Given the description of an element on the screen output the (x, y) to click on. 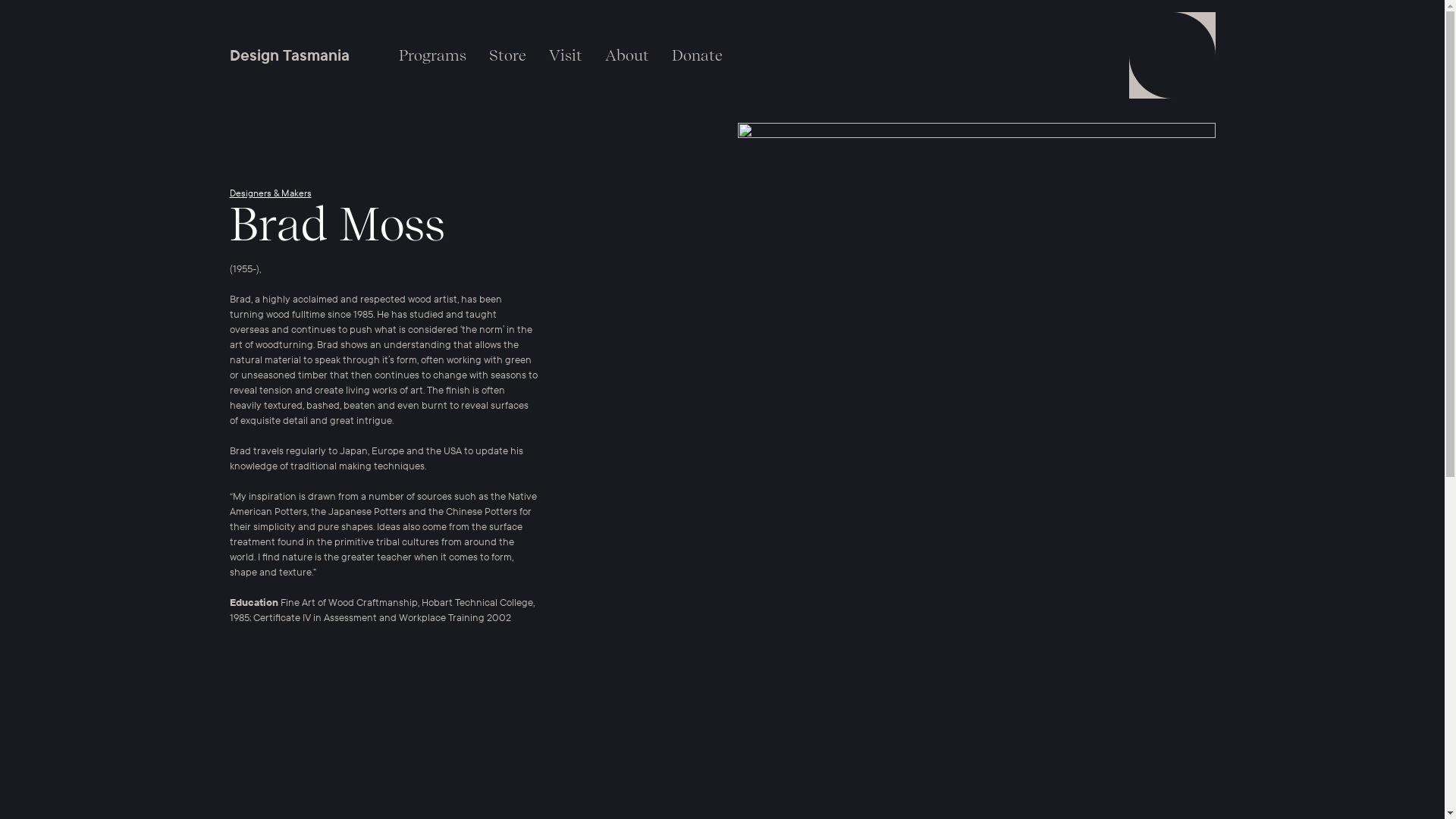
Menu Element type: text (1171, 55)
About Element type: text (626, 54)
Visit Element type: text (564, 54)
Designers & Makers Element type: text (269, 193)
Design Tasmania Element type: text (289, 54)
Store Element type: text (507, 54)
Donate Element type: text (696, 54)
Programs Element type: text (431, 54)
